Given the description of an element on the screen output the (x, y) to click on. 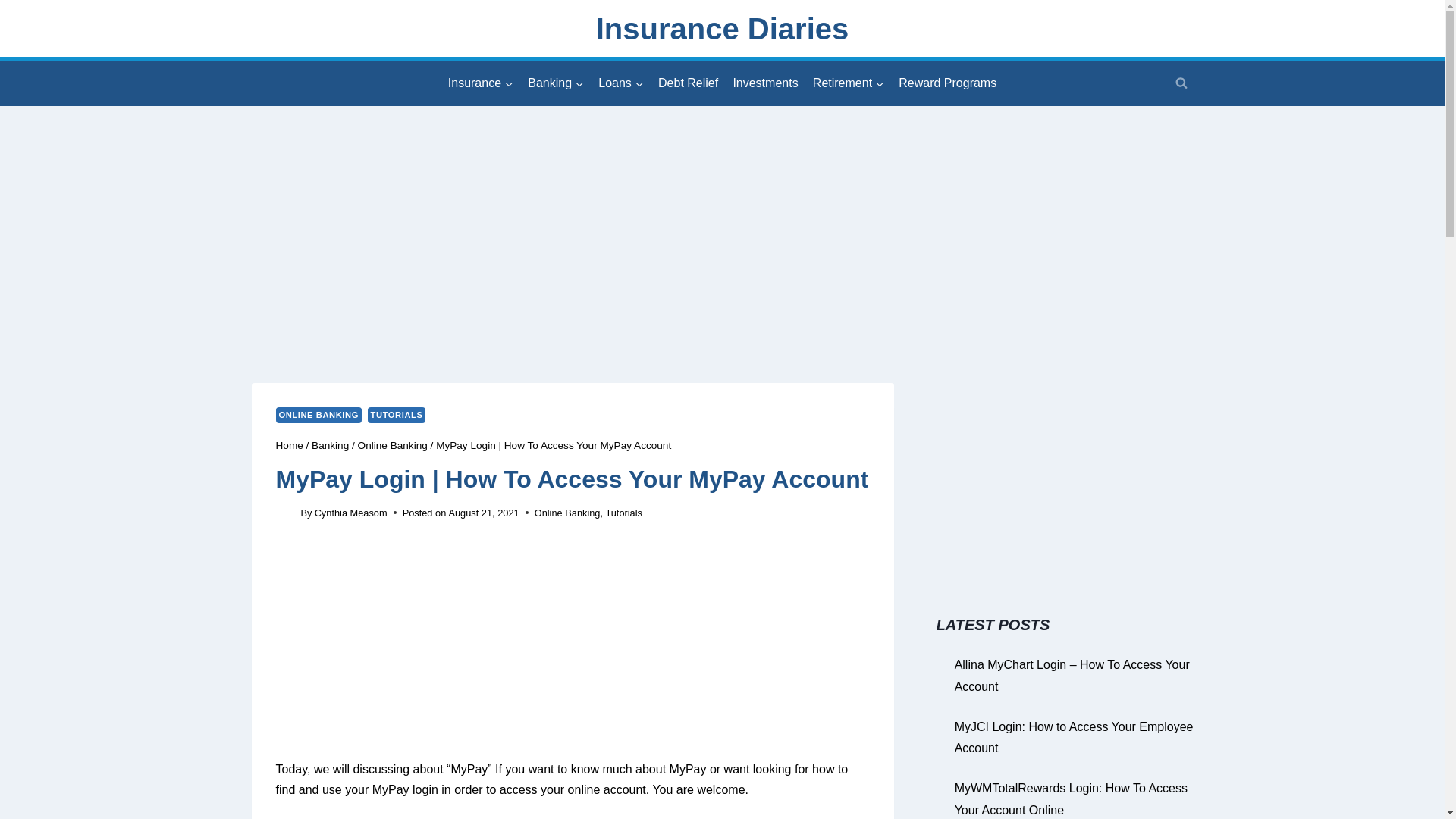
Banking (556, 83)
Investments (765, 83)
Loans (620, 83)
TUTORIALS (397, 415)
Insurance (480, 83)
Banking (330, 445)
Online Banking (393, 445)
Debt Relief (687, 83)
Retirement (848, 83)
Insurance Diaries (721, 28)
Home (289, 445)
ONLINE BANKING (318, 415)
Reward Programs (947, 83)
